Given the description of an element on the screen output the (x, y) to click on. 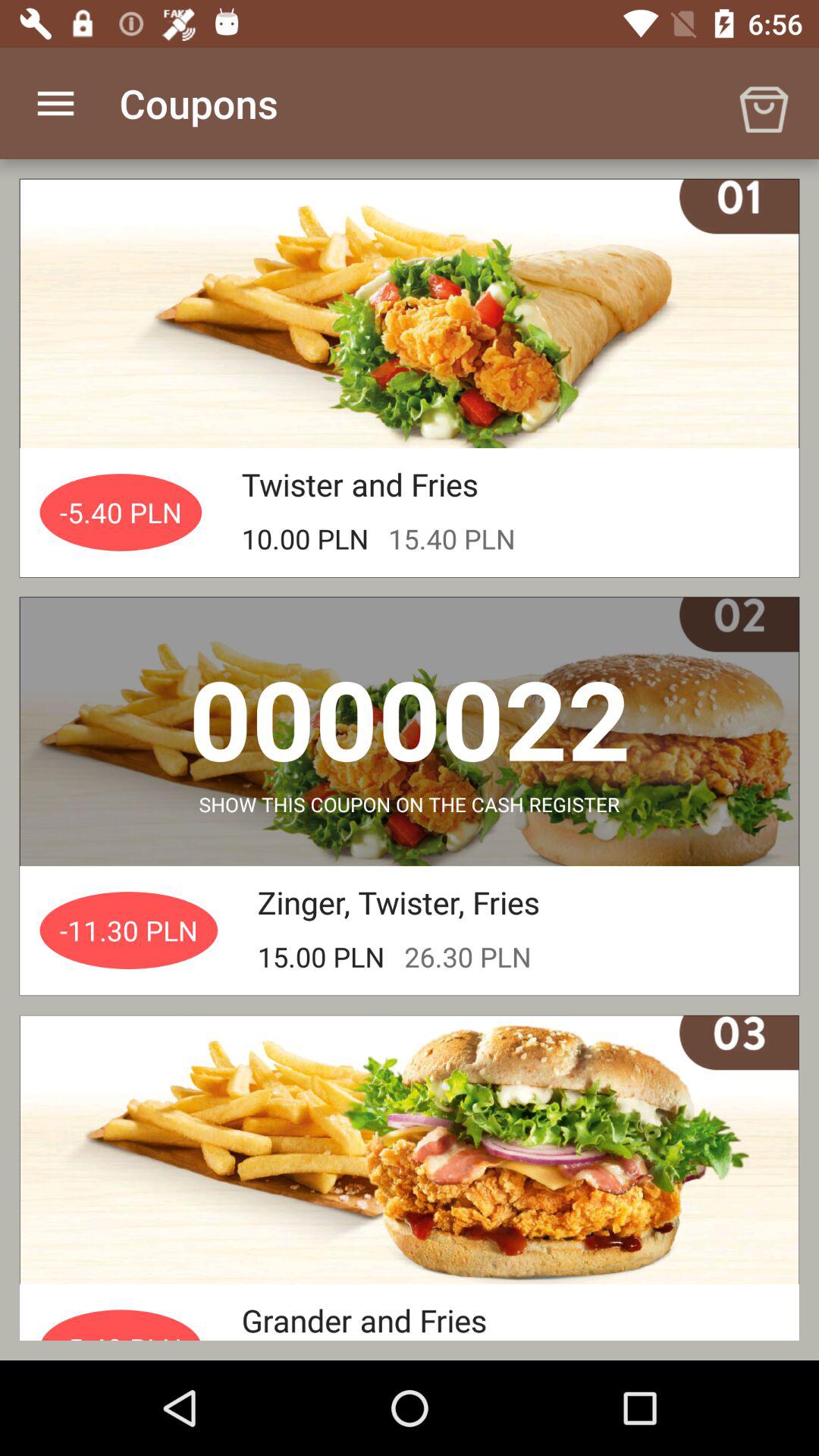
select the icon next to coupons icon (763, 103)
